Given the description of an element on the screen output the (x, y) to click on. 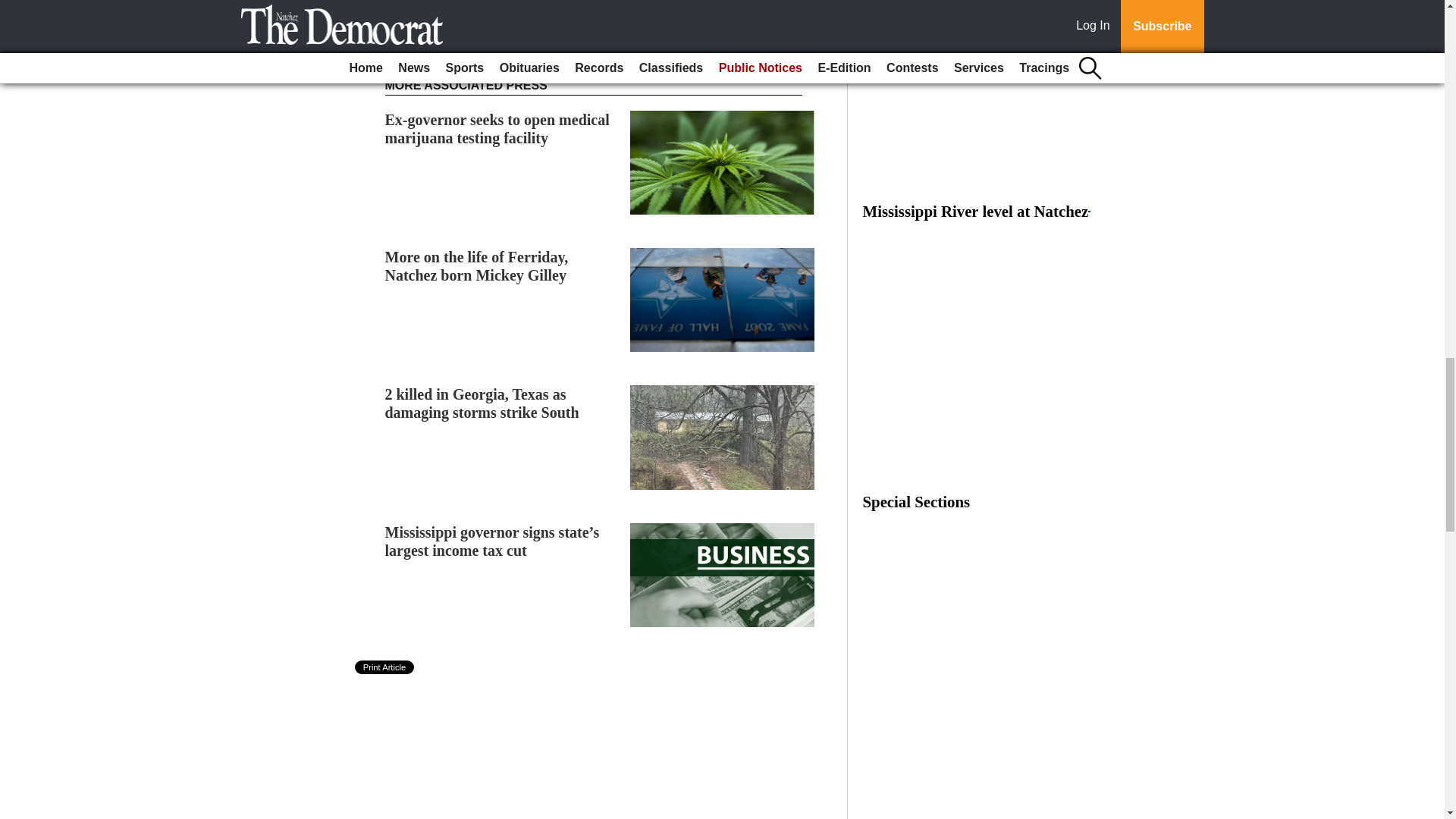
2 killed in Georgia, Texas as damaging storms strike South (482, 402)
More on the life of Ferriday, Natchez born Mickey Gilley (477, 265)
2 killed in Georgia, Texas as damaging storms strike South (482, 402)
More on the life of Ferriday, Natchez born Mickey Gilley (477, 265)
Ex-governor seeks to open medical marijuana testing facility (497, 128)
Ex-governor seeks to open medical marijuana testing facility (497, 128)
